Given the description of an element on the screen output the (x, y) to click on. 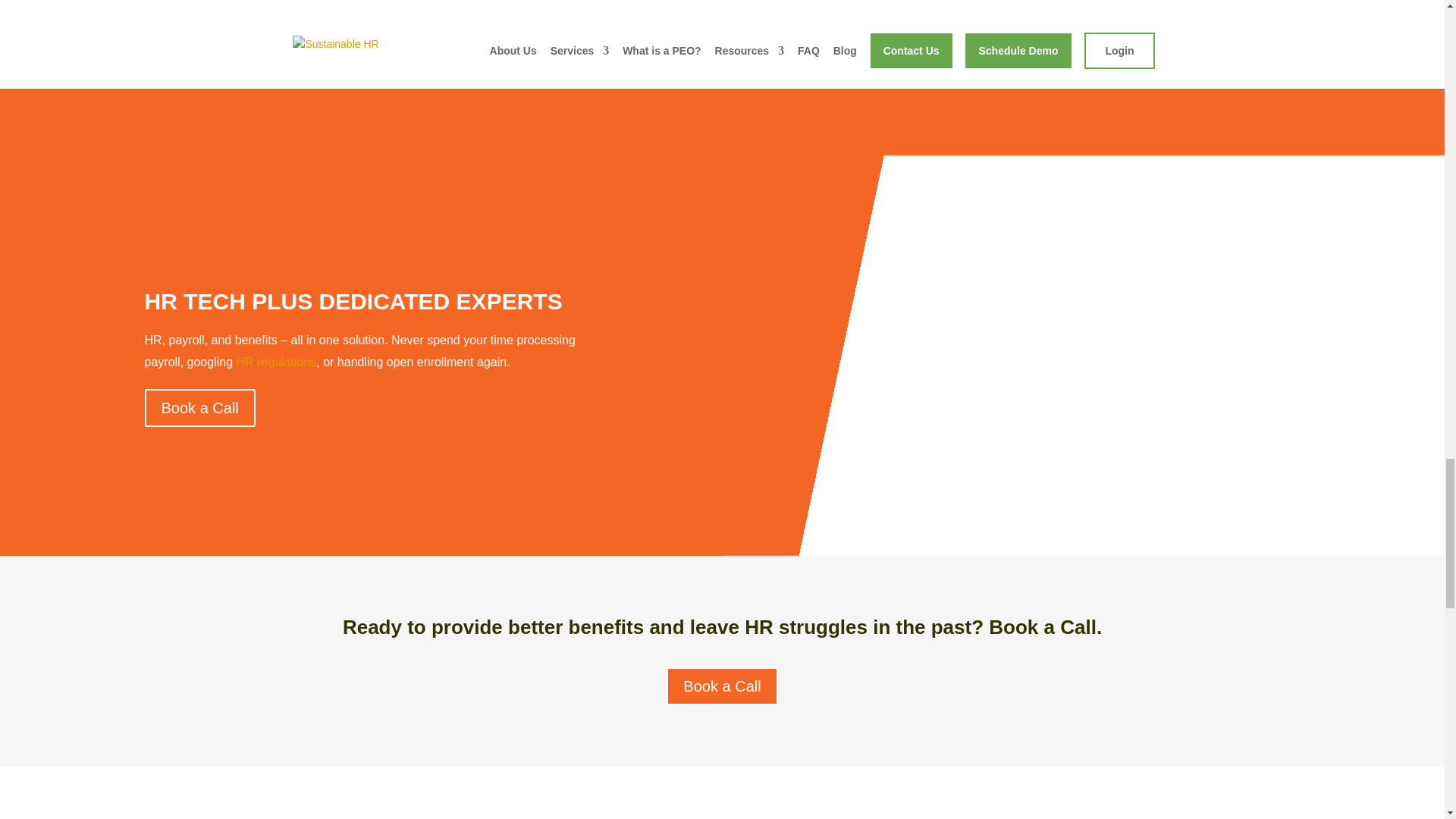
HR regulations (275, 361)
Book a Call (199, 407)
Book a Call (721, 686)
Book a Call (921, 13)
